Given the description of an element on the screen output the (x, y) to click on. 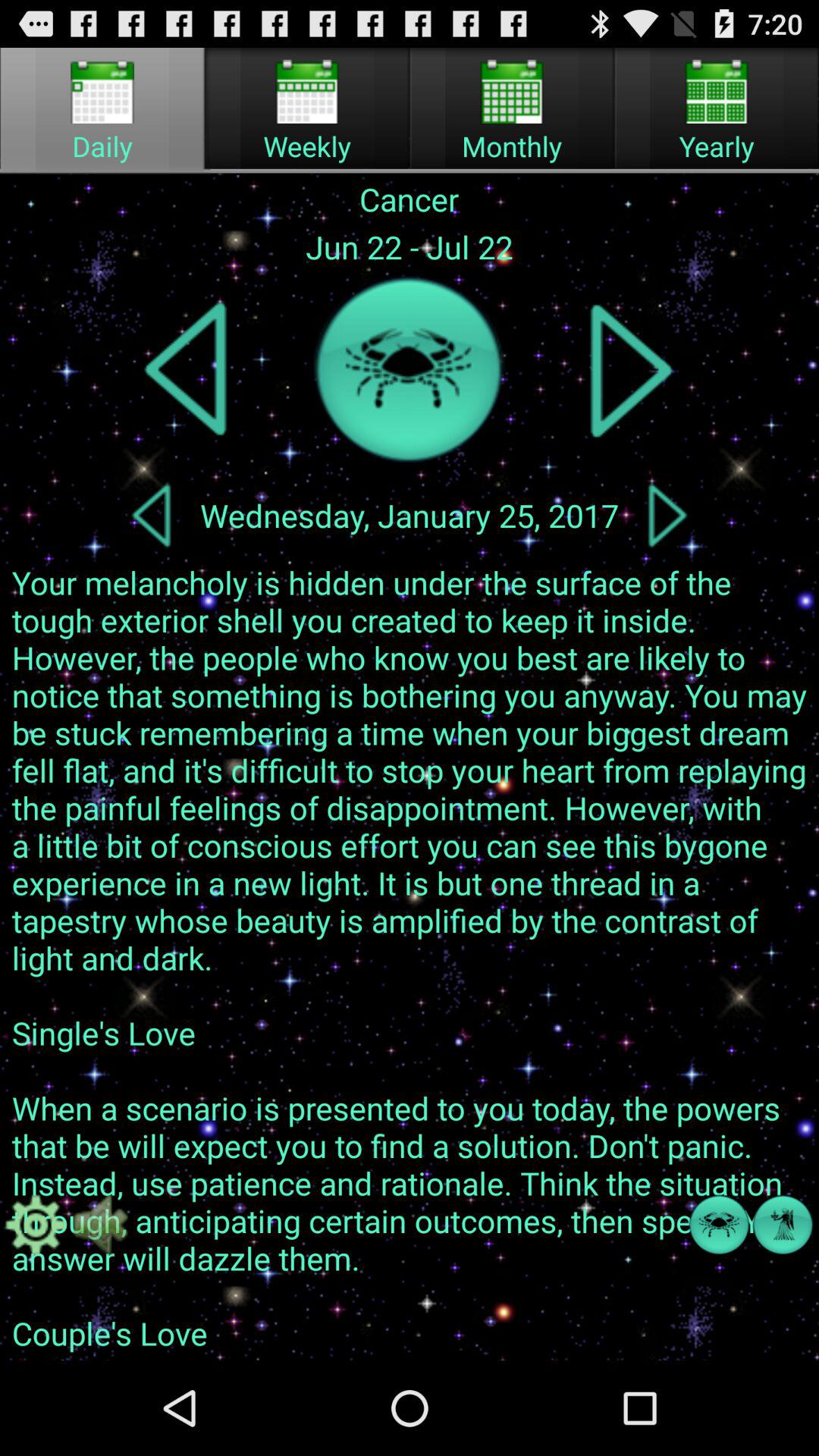
go back one astrology sign (187, 369)
